Given the description of an element on the screen output the (x, y) to click on. 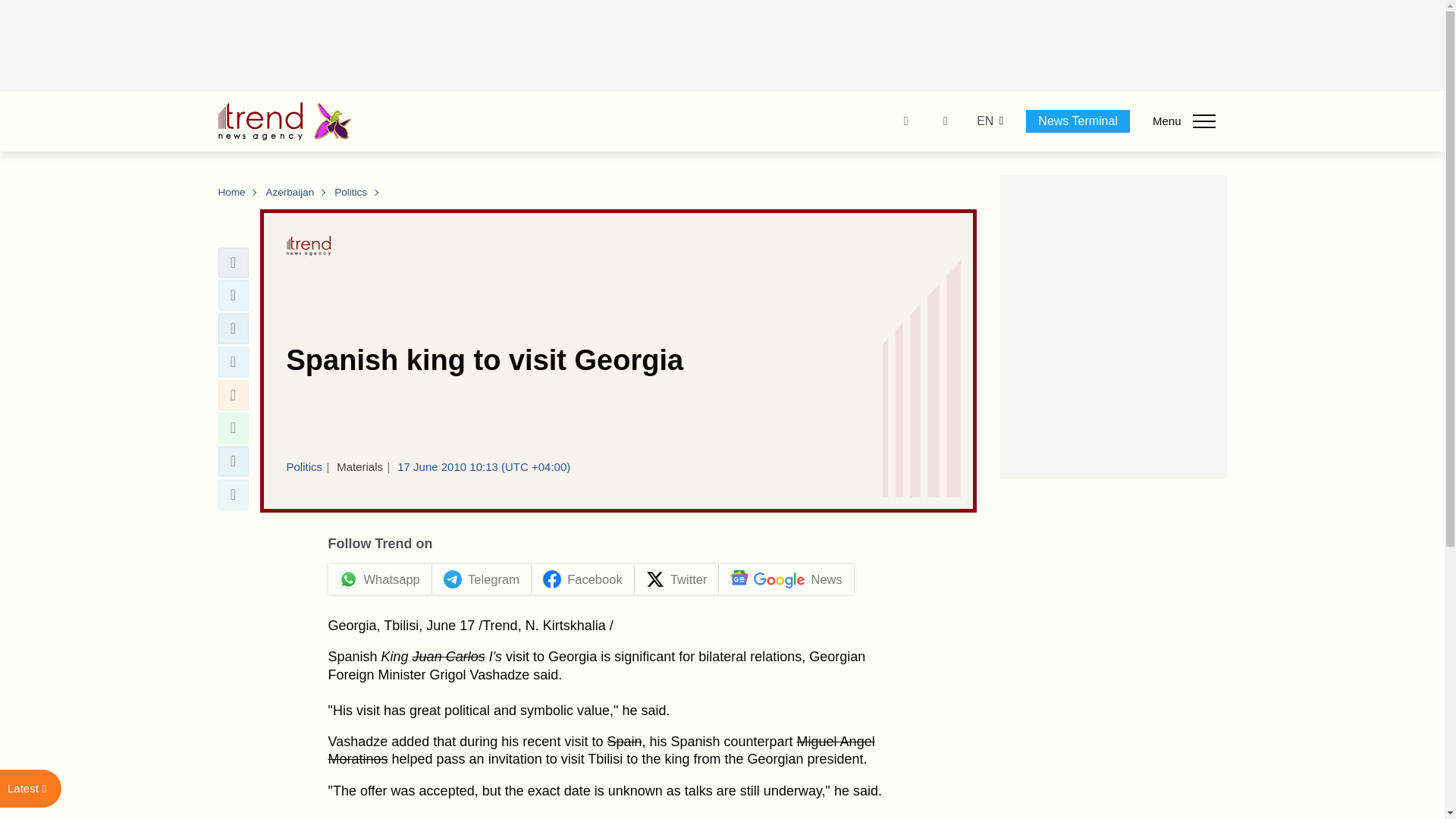
News Terminal (1077, 120)
EN (984, 121)
English (984, 121)
